Given the description of an element on the screen output the (x, y) to click on. 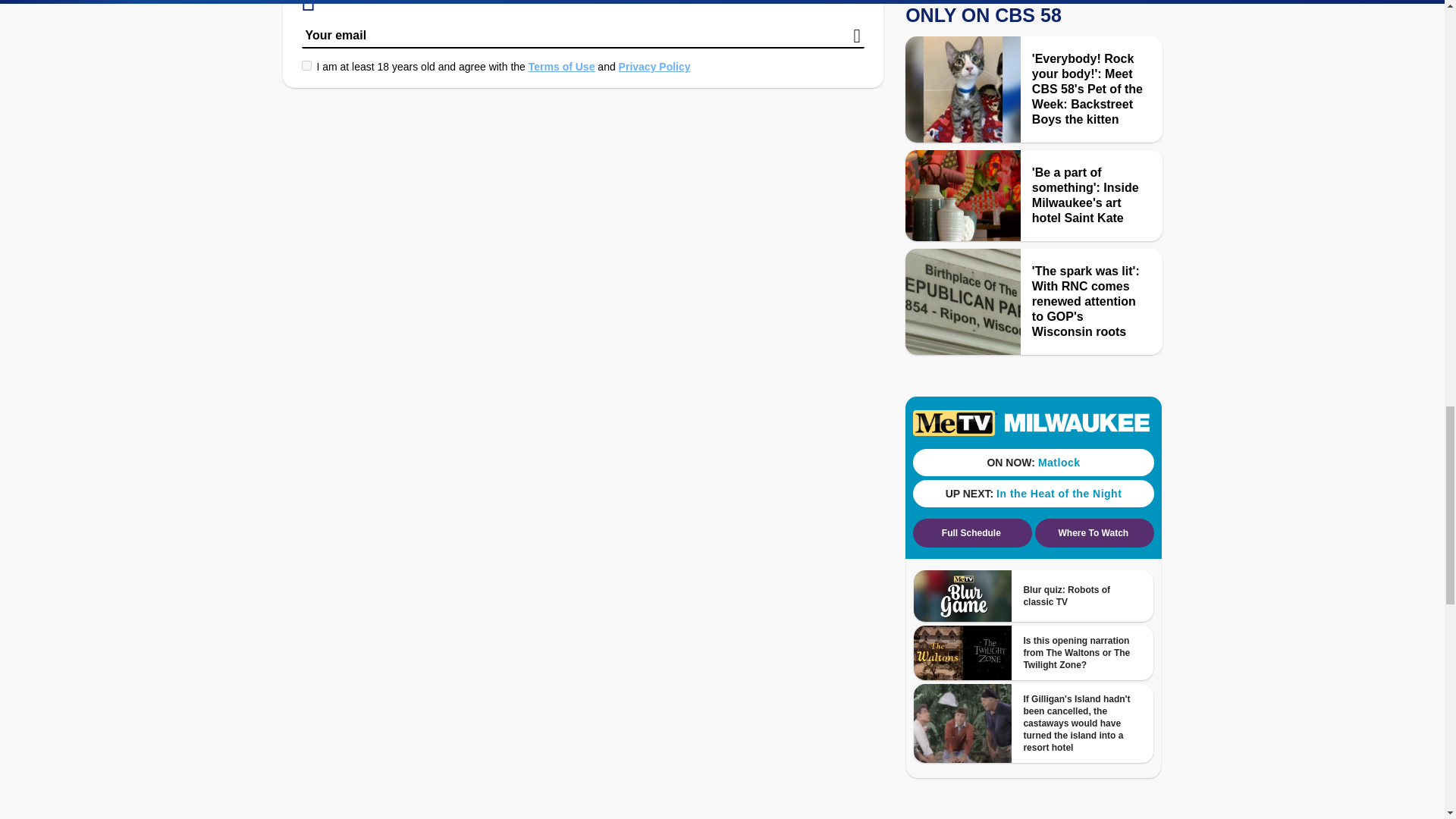
on (306, 65)
